Given the description of an element on the screen output the (x, y) to click on. 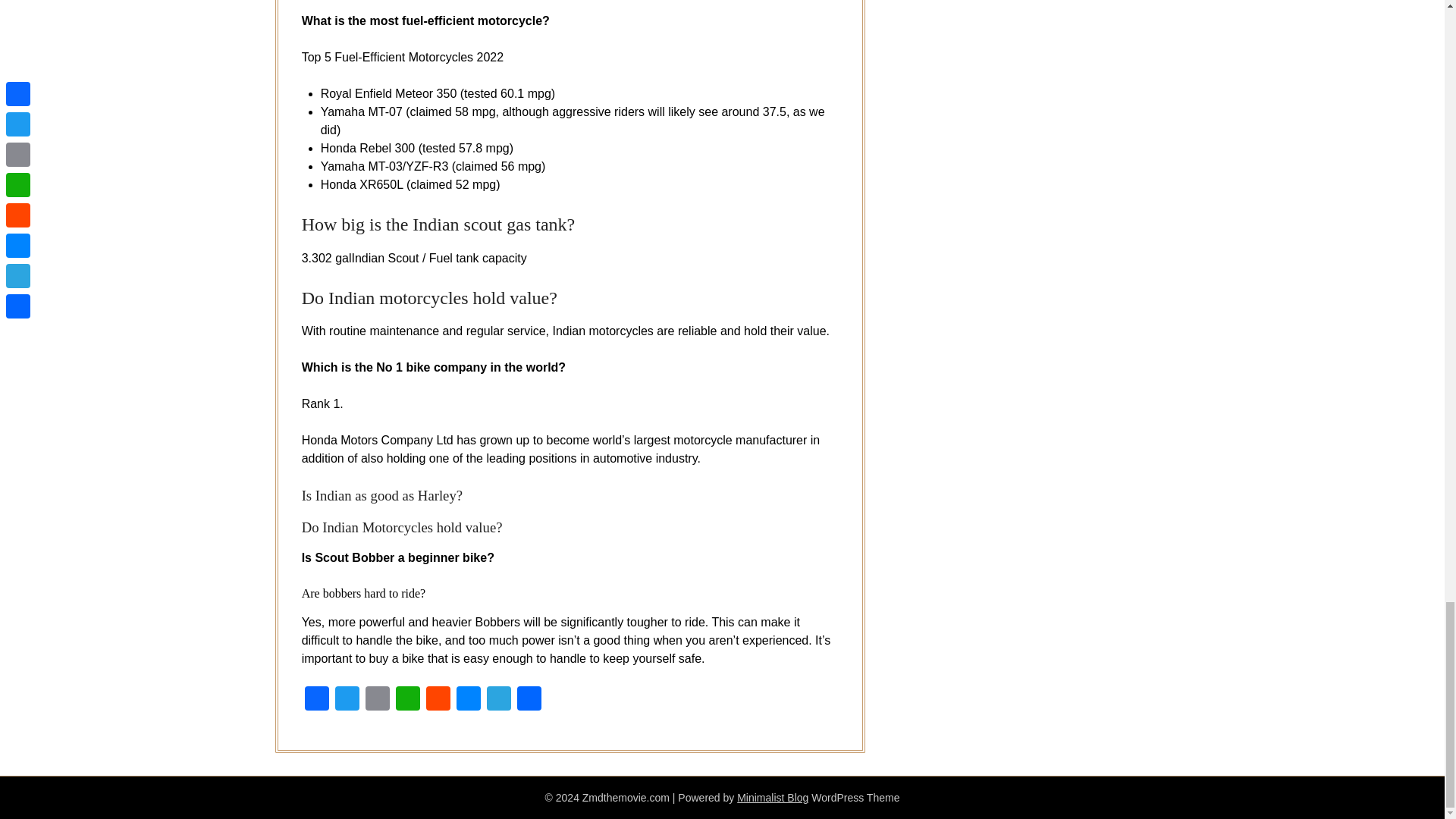
Messenger (467, 700)
Email (377, 700)
Share (528, 700)
Reddit (437, 700)
Twitter (346, 700)
WhatsApp (408, 700)
Email (377, 700)
Twitter (346, 700)
Facebook (316, 700)
Telegram (498, 700)
Facebook (316, 700)
